Given the description of an element on the screen output the (x, y) to click on. 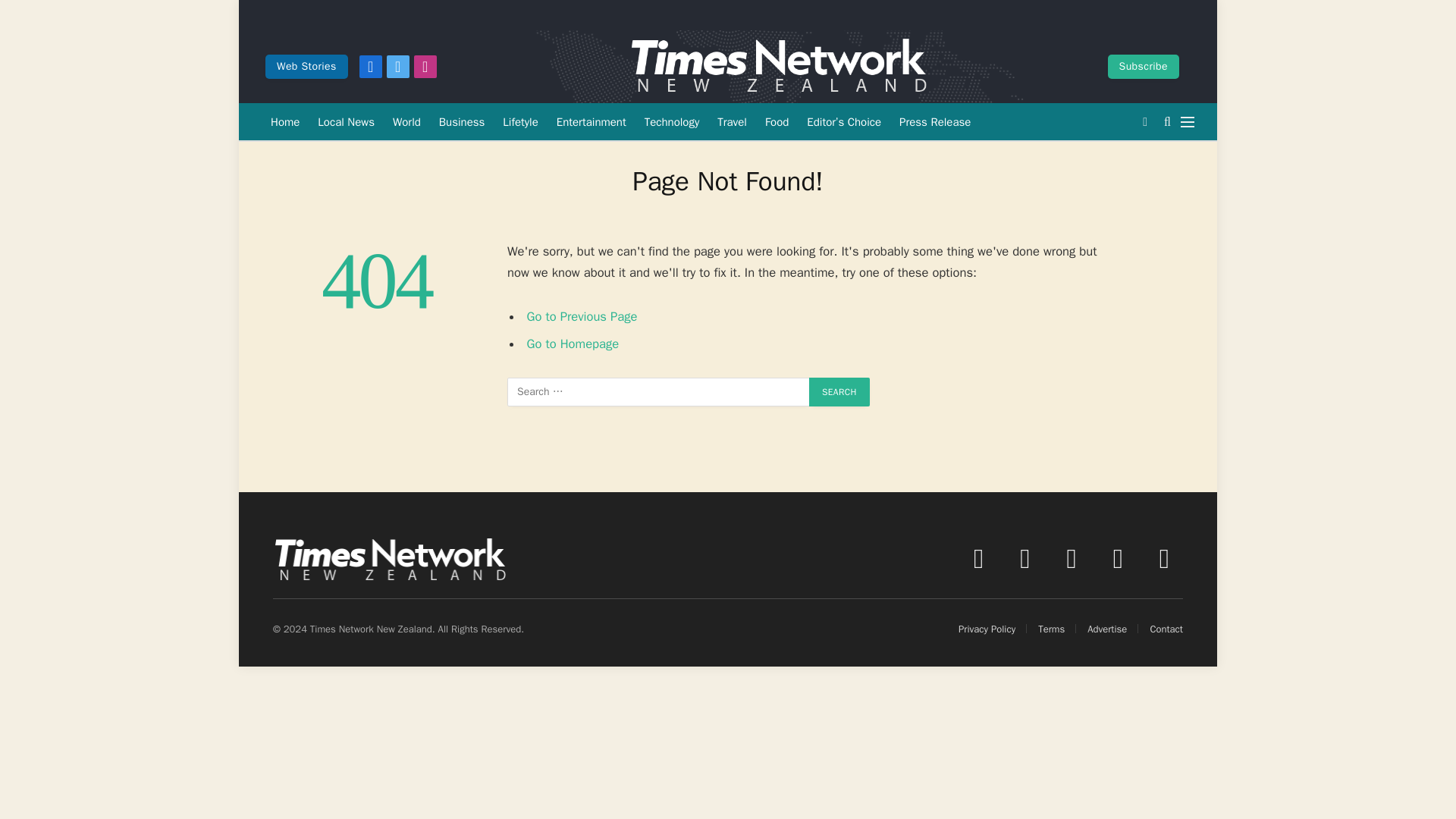
Facebook (370, 66)
Search (839, 391)
Times Network New Zealand (778, 66)
Instagram (424, 66)
Web Stories (305, 66)
Entertainment (590, 121)
Local News (346, 121)
Lifetyle (520, 121)
Food (776, 121)
Switch to Dark Design - easier on eyes. (1144, 121)
Travel (731, 121)
Home (285, 121)
World (406, 121)
Subscribe (1143, 66)
Search (839, 391)
